Given the description of an element on the screen output the (x, y) to click on. 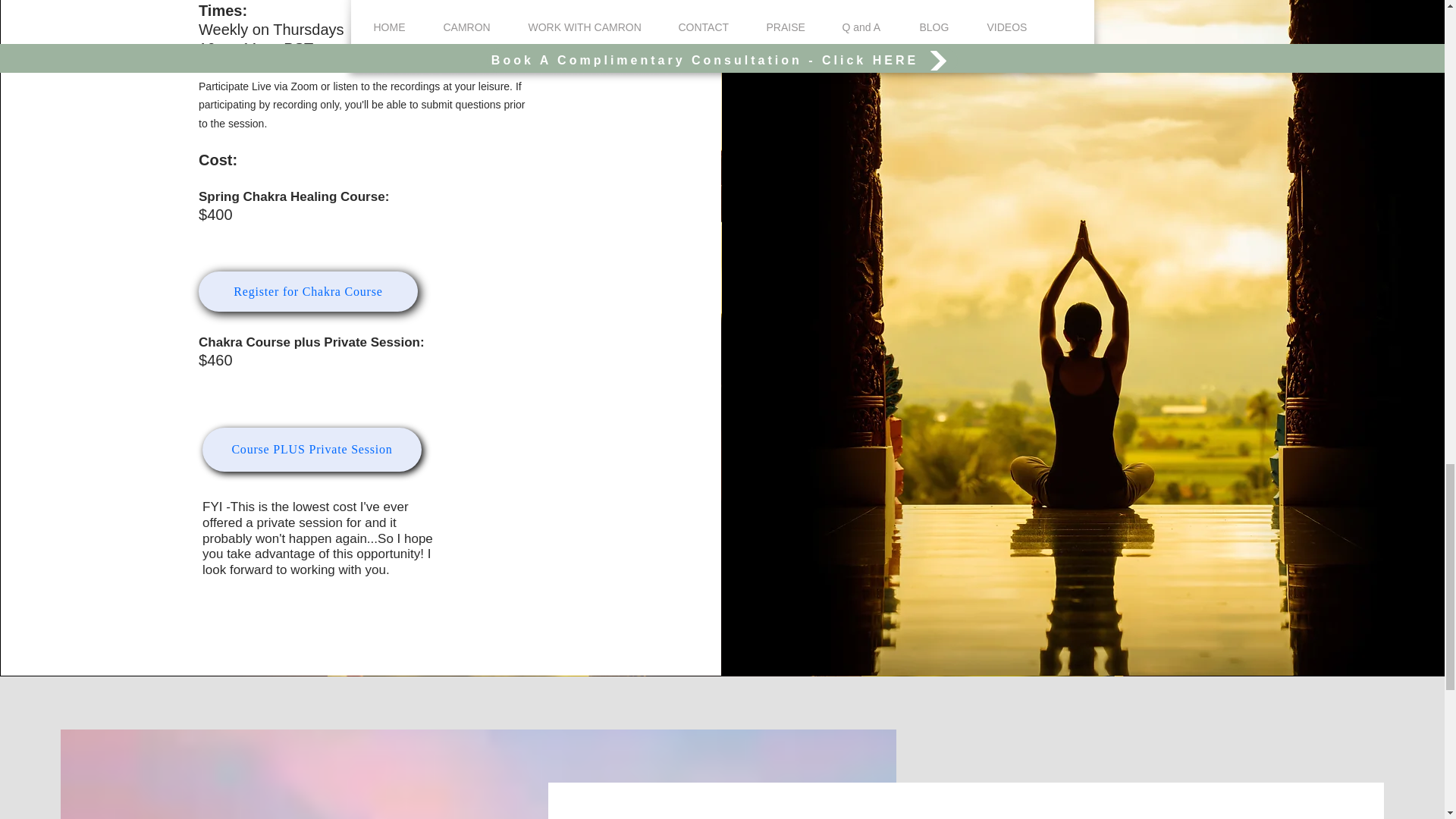
Course PLUS Private Session (312, 449)
Register for Chakra Course (307, 291)
